Given the description of an element on the screen output the (x, y) to click on. 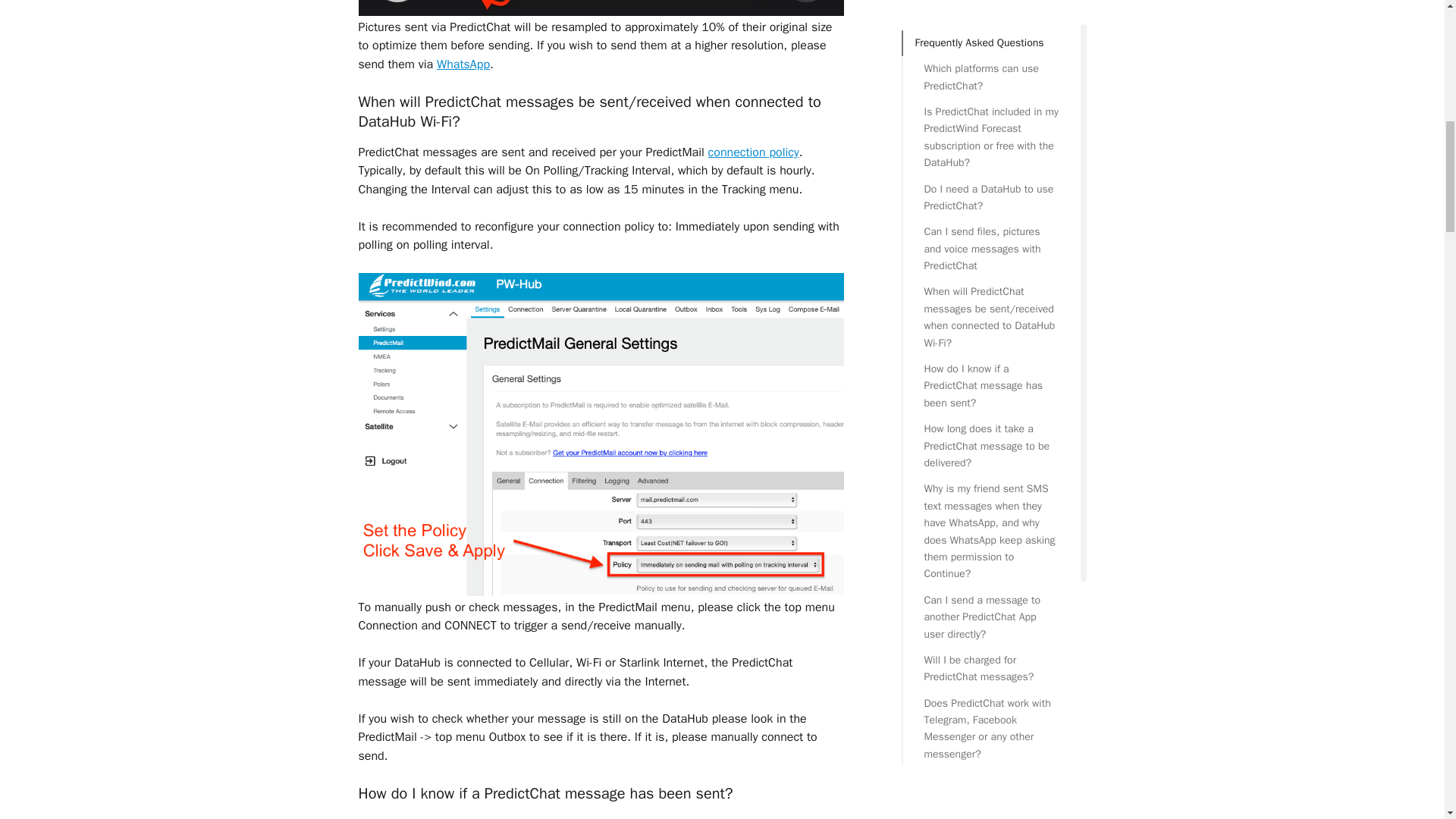
Change your PredictChat password (990, 386)
Will I be charged for PredictChat messages? (990, 59)
Can I use PredictChat on more than one phone? (990, 239)
PredictChat crashed; what is wrong with it? (990, 342)
Can I only purchase PredictChat? I don't want PredictMail. (990, 291)
Can I edit or delete a PredictChat message I have sent (990, 187)
